Given the description of an element on the screen output the (x, y) to click on. 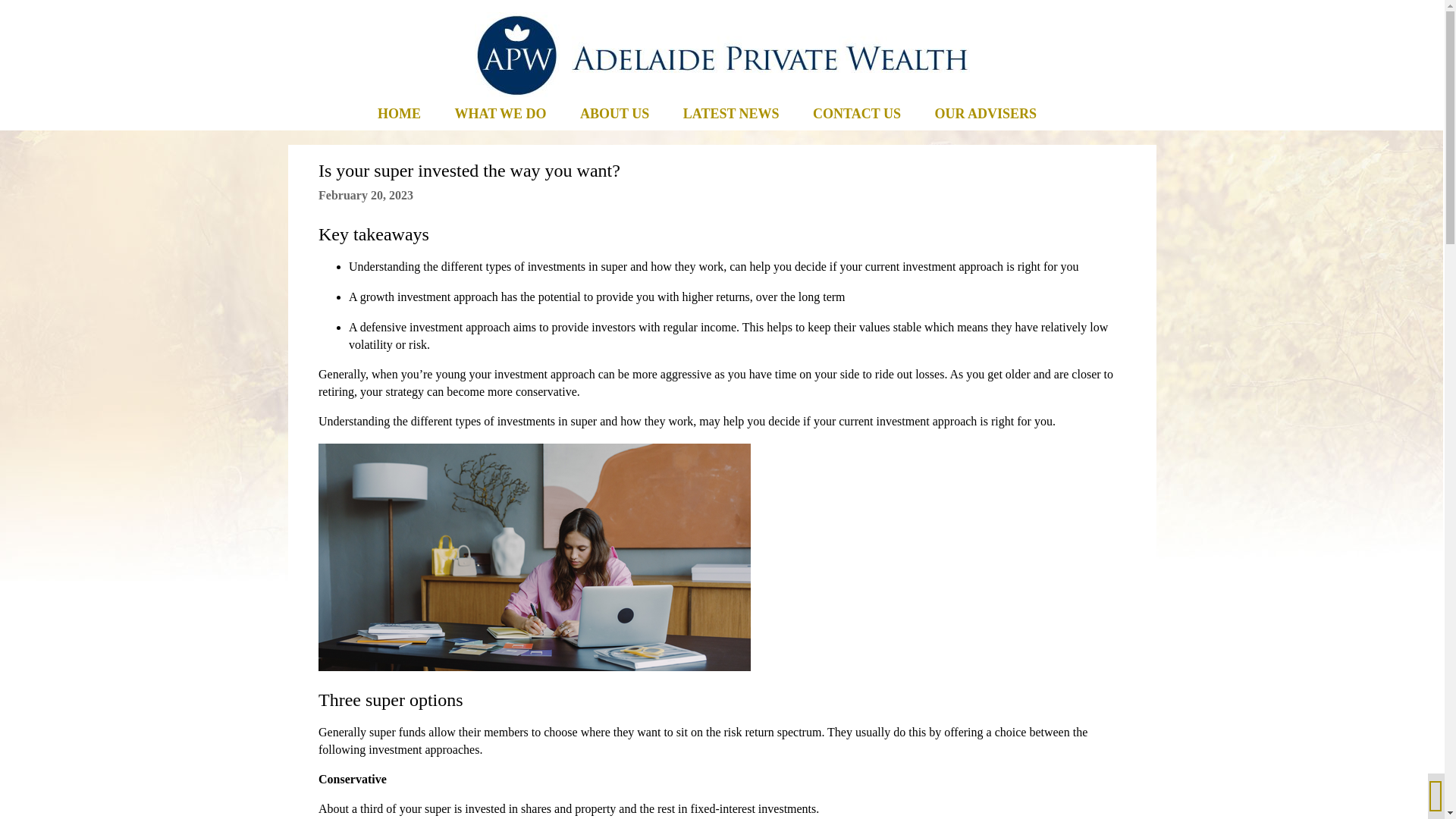
Is your super invested the way you want? (469, 170)
Is your super invested the way you want? (469, 170)
LATEST NEWS (730, 114)
HOME (398, 114)
OUR ADVISERS (985, 114)
Is your super invested the way you want? (534, 556)
WHAT WE DO (500, 114)
ABOUT US (614, 114)
CONTACT US (856, 114)
